Given the description of an element on the screen output the (x, y) to click on. 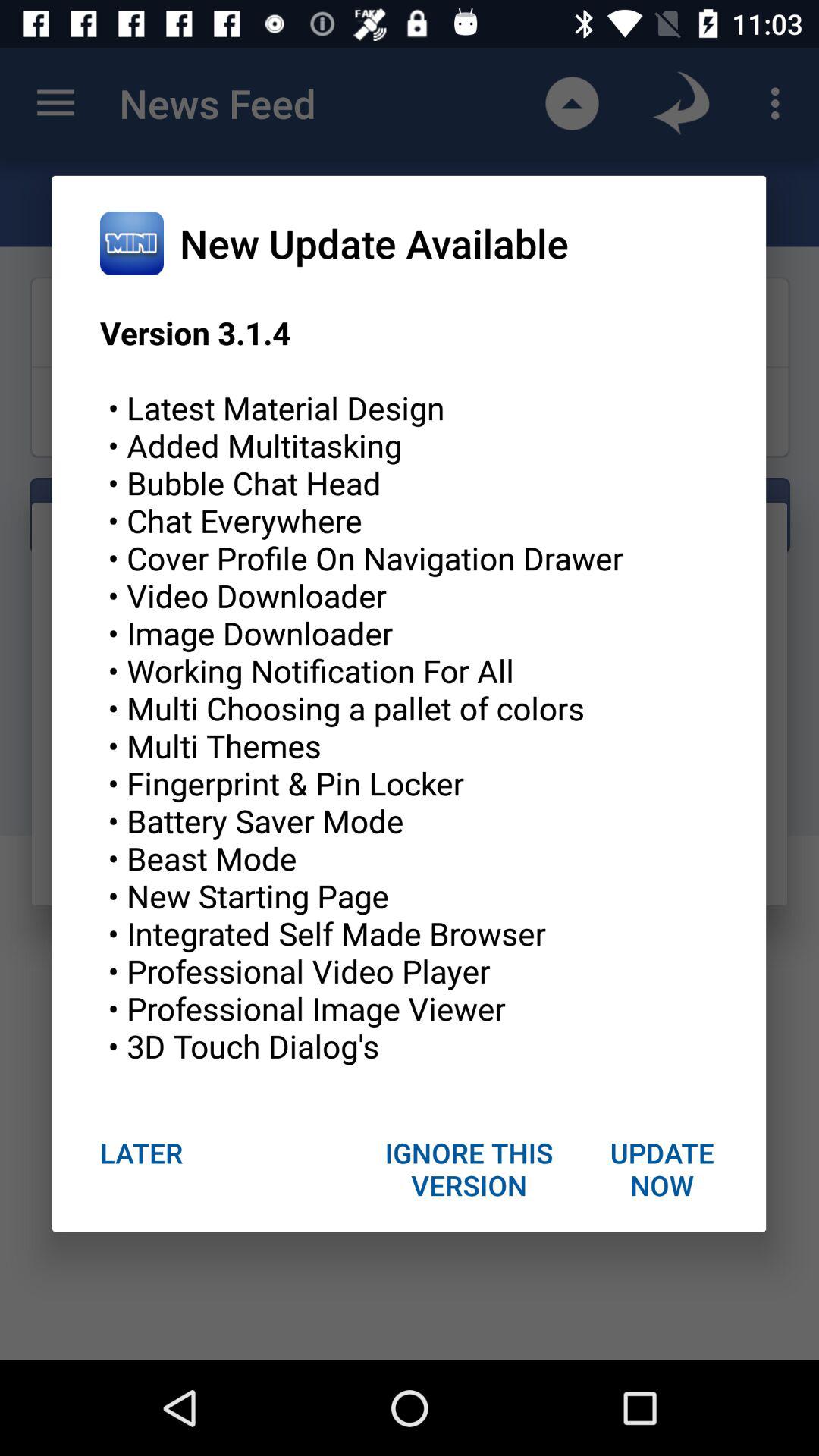
click the icon at the bottom right corner (661, 1168)
